Given the description of an element on the screen output the (x, y) to click on. 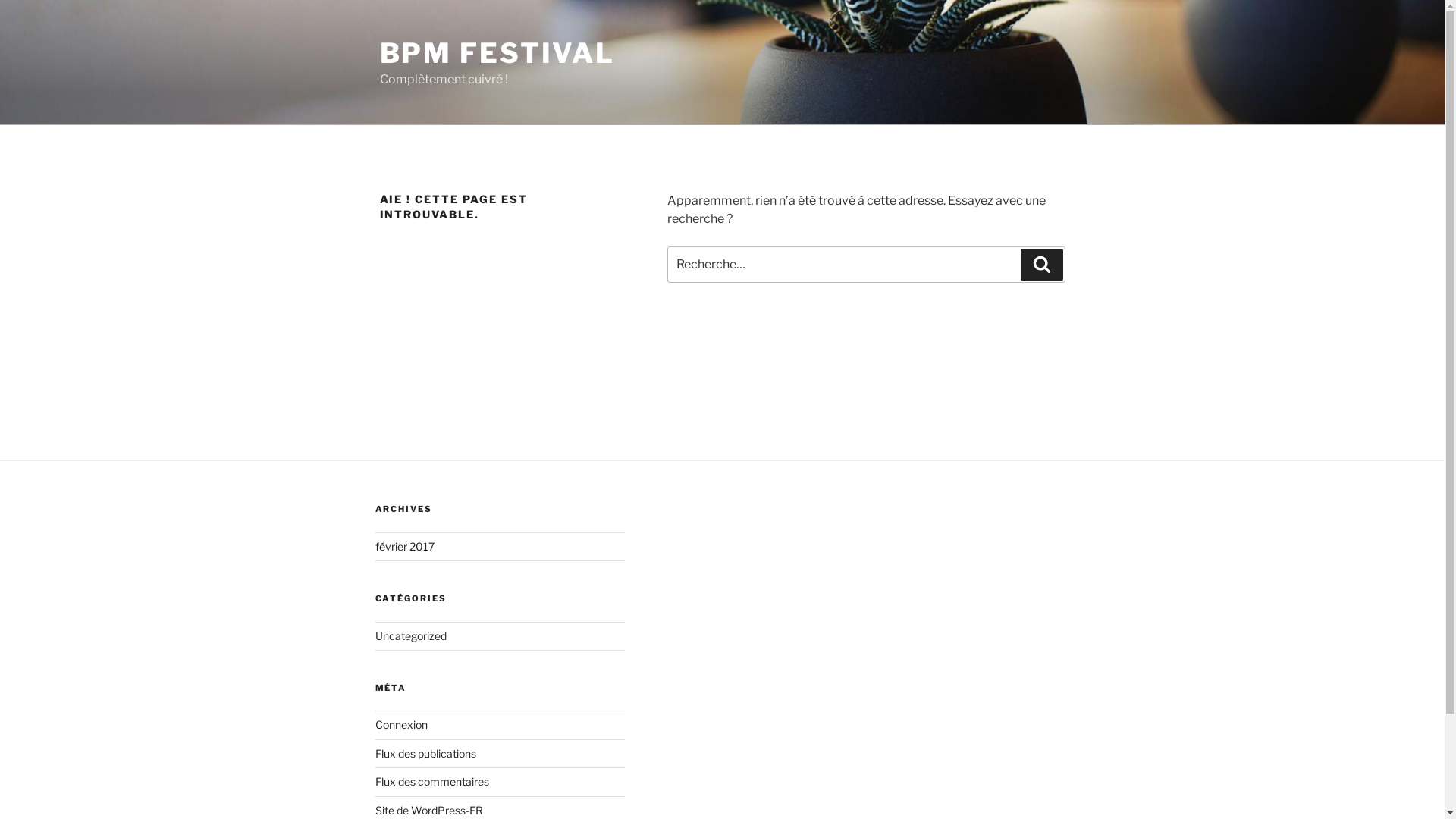
Recherche Element type: text (1041, 264)
BPM FESTIVAL Element type: text (497, 52)
Flux des commentaires Element type: text (431, 781)
Uncategorized Element type: text (409, 635)
Flux des publications Element type: text (424, 752)
Connexion Element type: text (400, 724)
Site de WordPress-FR Element type: text (428, 809)
